Given the description of an element on the screen output the (x, y) to click on. 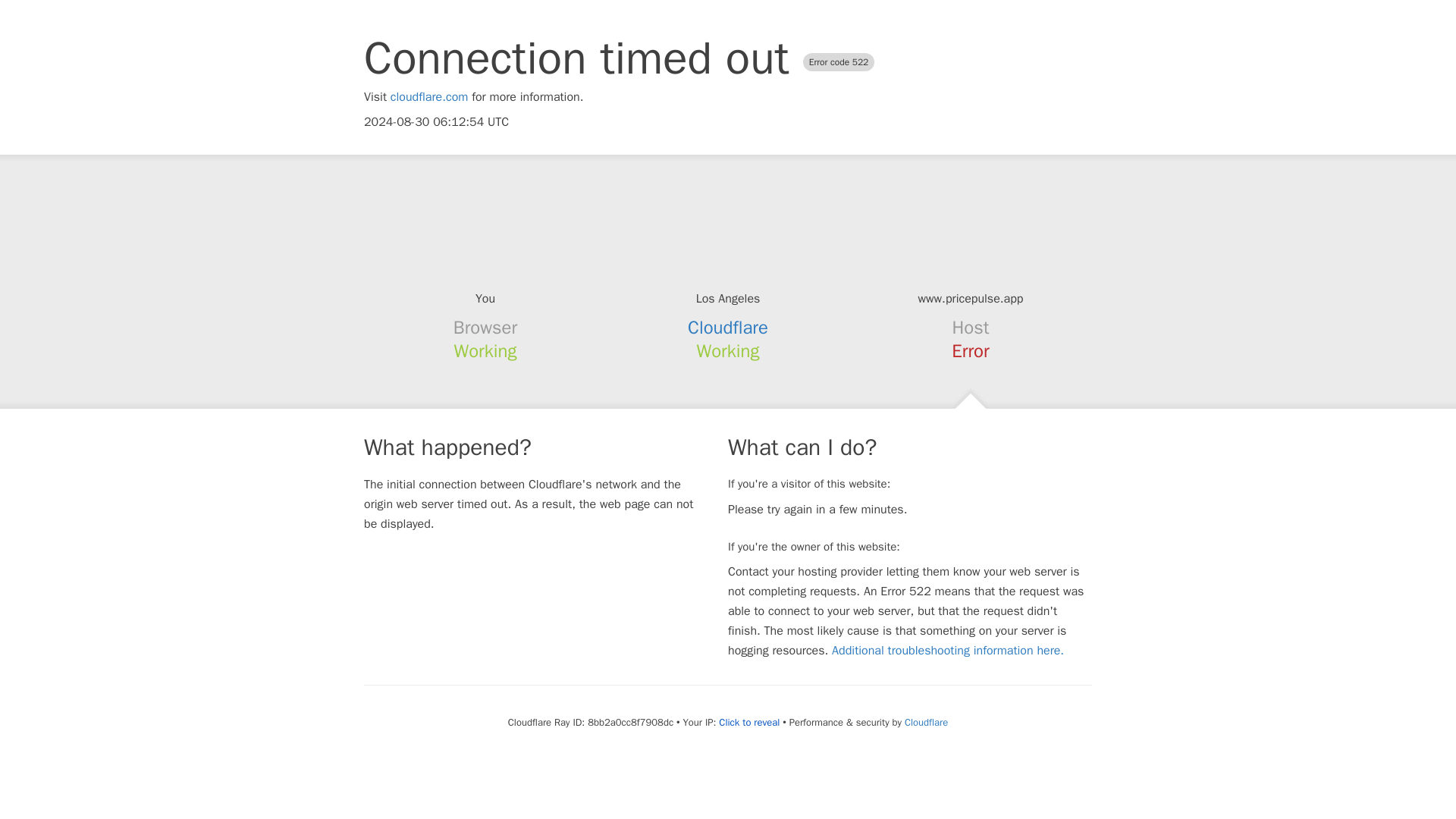
Cloudflare (727, 327)
Click to reveal (748, 722)
Additional troubleshooting information here. (947, 650)
cloudflare.com (429, 96)
Cloudflare (925, 721)
